Given the description of an element on the screen output the (x, y) to click on. 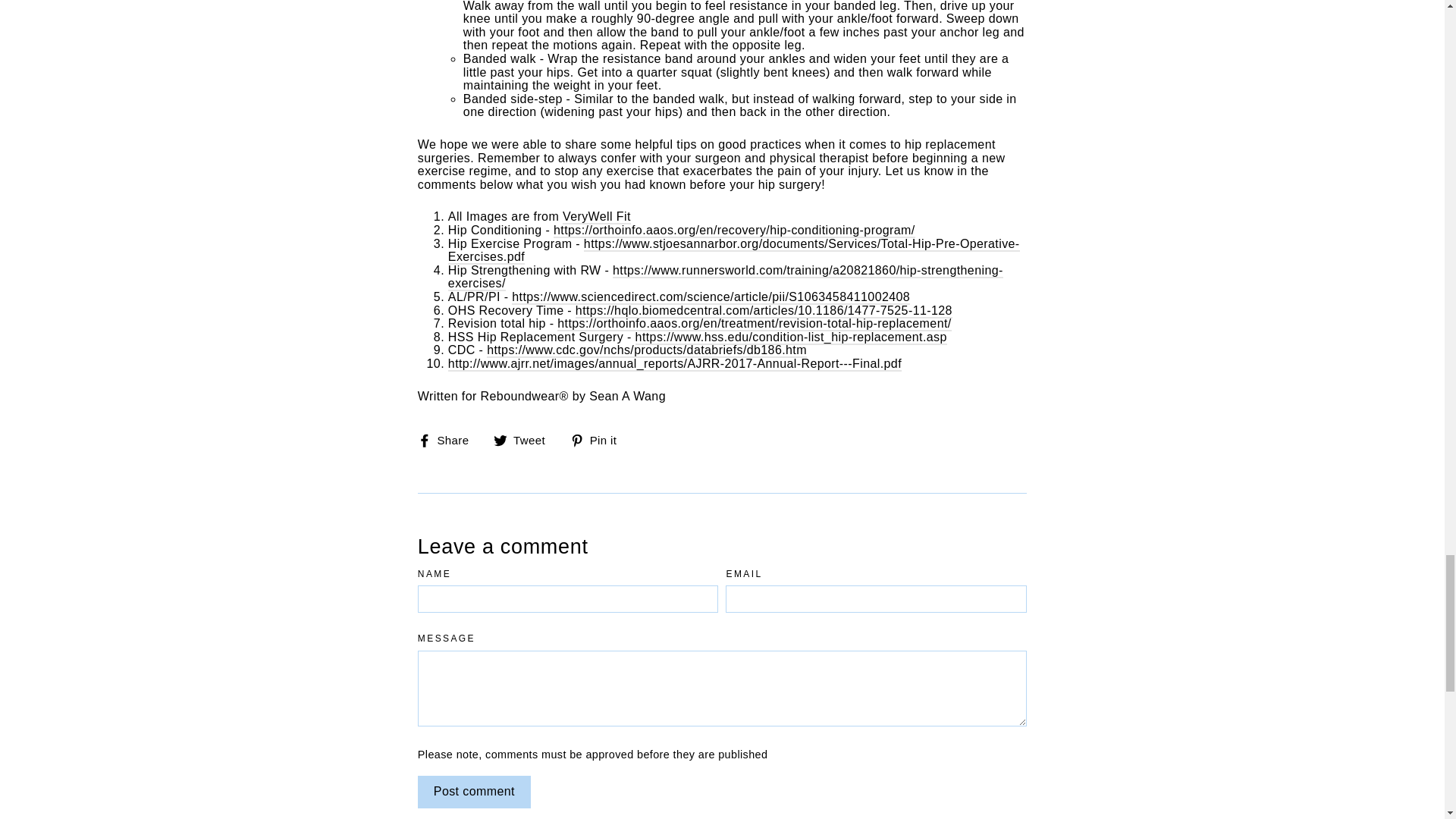
Post comment (474, 791)
Tweet on Twitter (524, 440)
VeryWell Fit (596, 216)
Pin on Pinterest (598, 440)
Share on Facebook (448, 440)
